Given the description of an element on the screen output the (x, y) to click on. 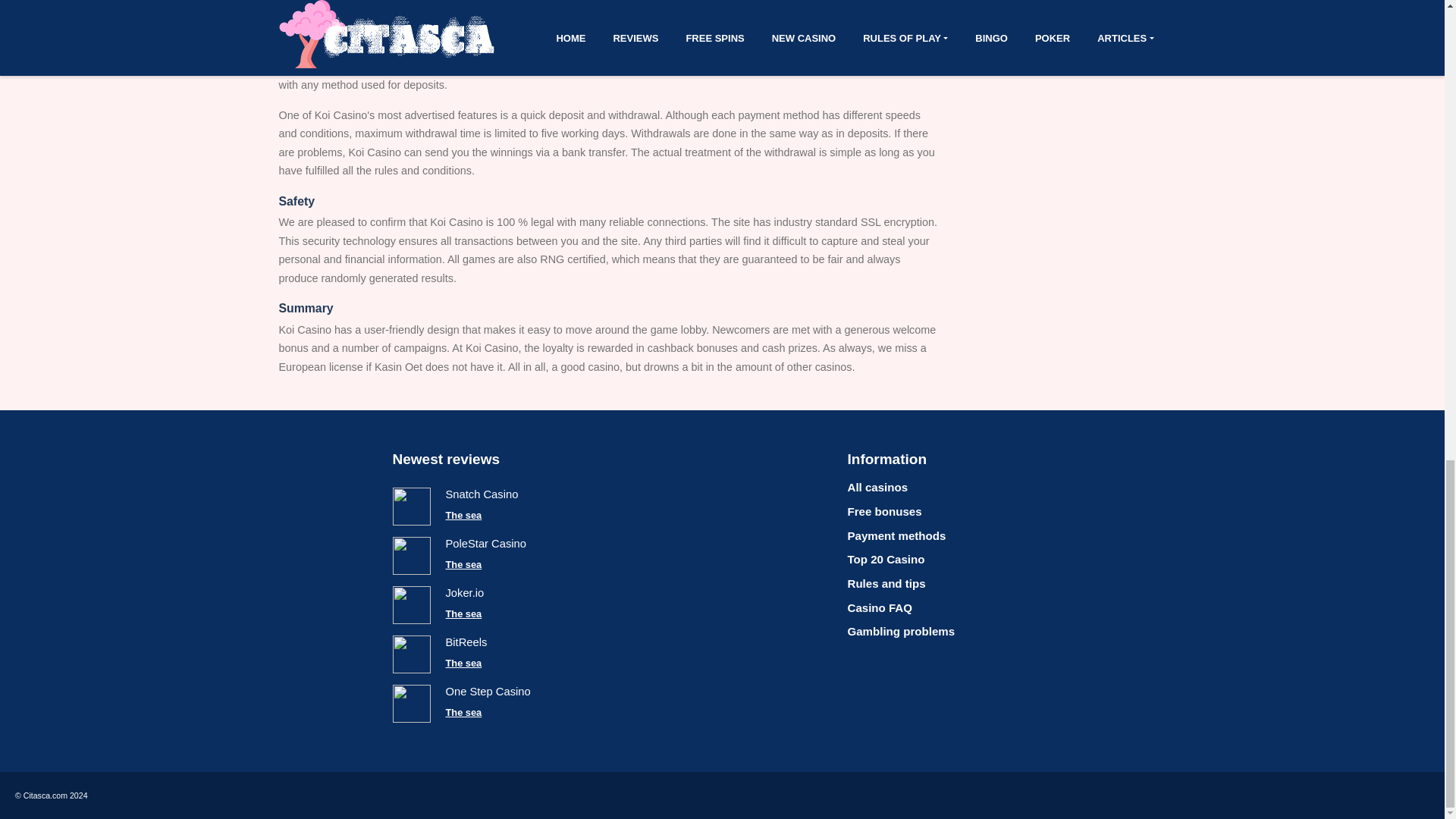
The sea (463, 515)
